Given the description of an element on the screen output the (x, y) to click on. 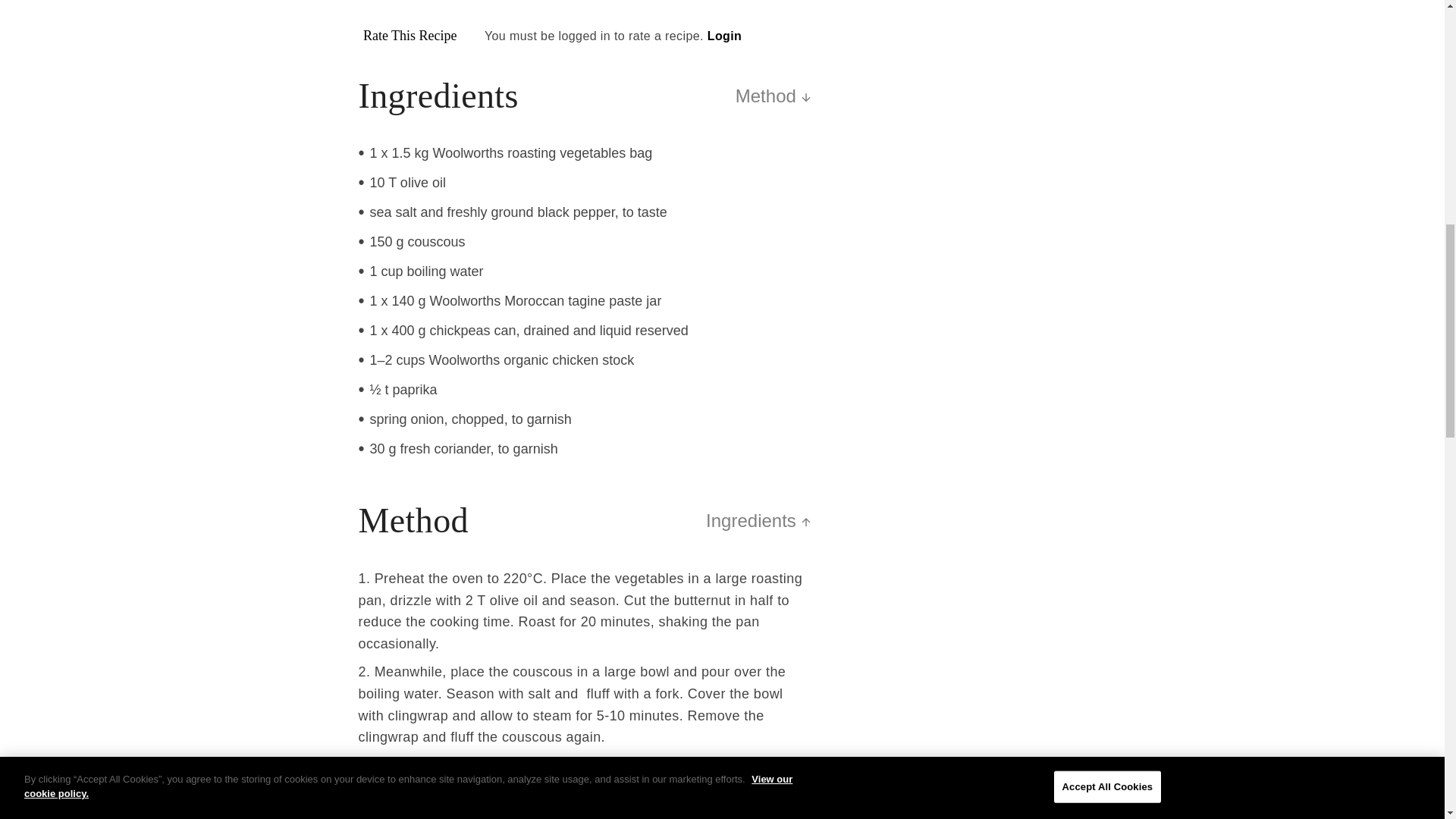
3rd party ad content (969, 596)
